Given the description of an element on the screen output the (x, y) to click on. 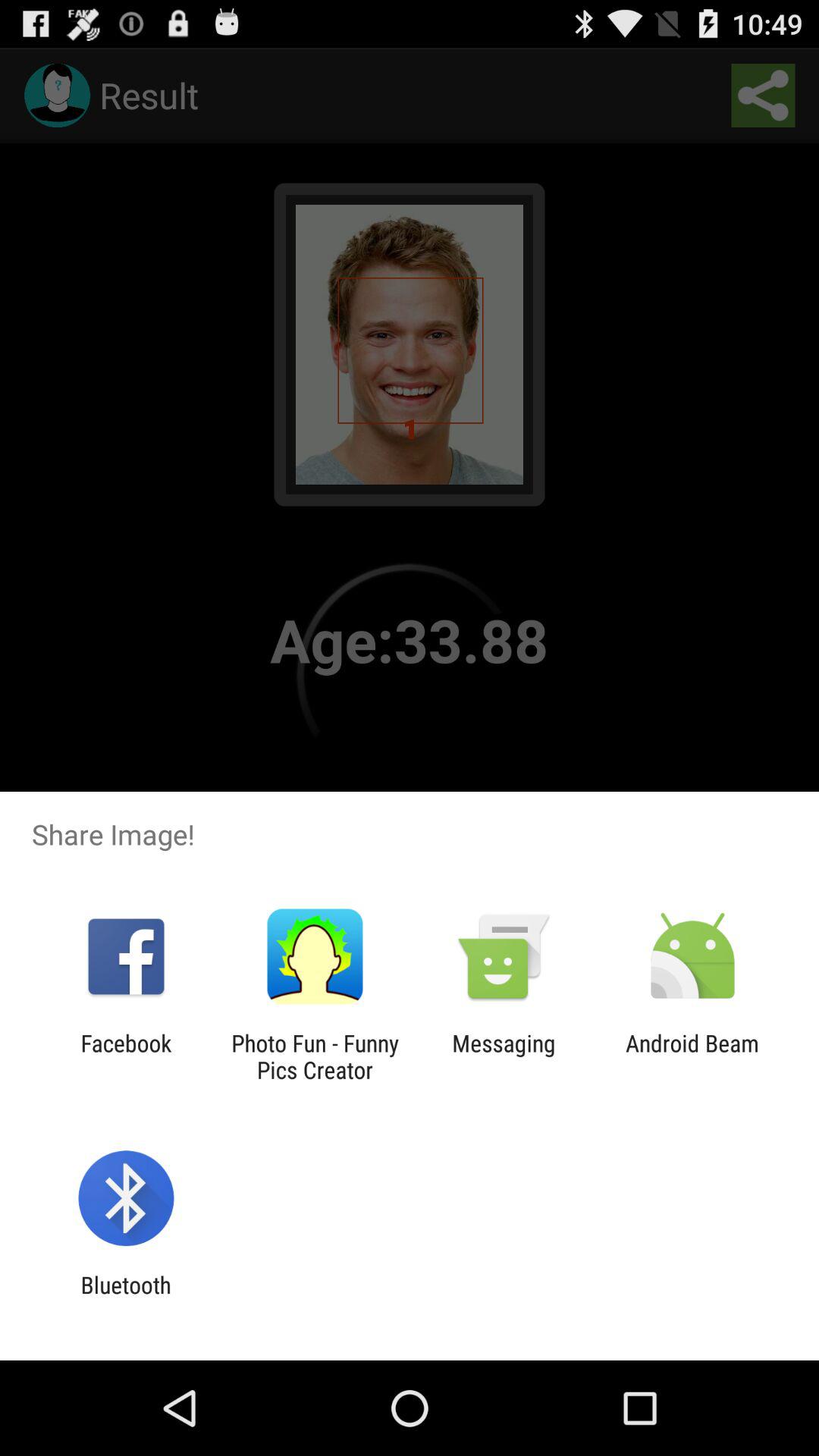
launch the item next to the messaging app (314, 1056)
